Given the description of an element on the screen output the (x, y) to click on. 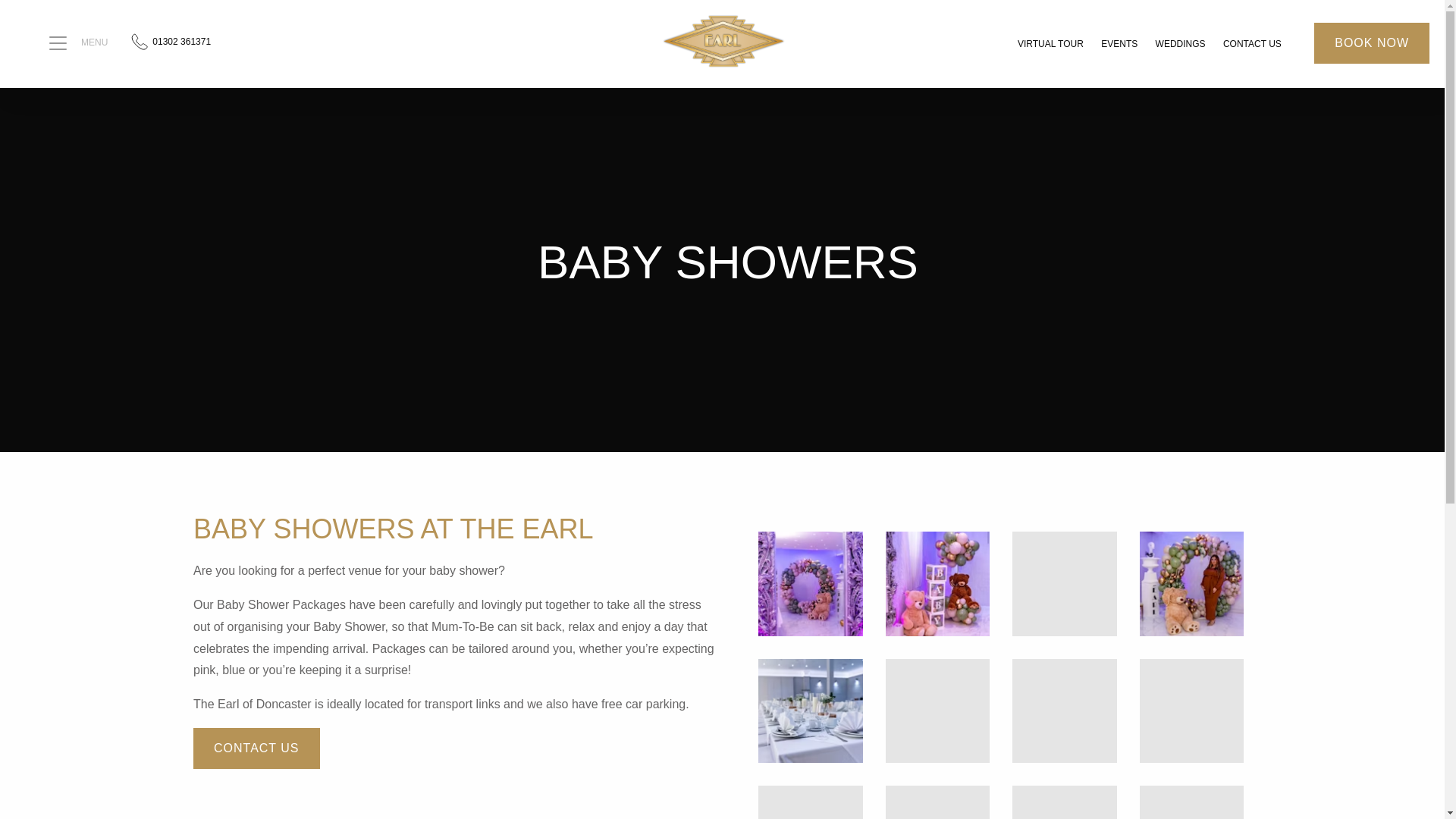
VIRTUAL TOUR (1050, 44)
01302 361371 (168, 43)
BOOK NOW (1371, 42)
MENU (66, 43)
